Given the description of an element on the screen output the (x, y) to click on. 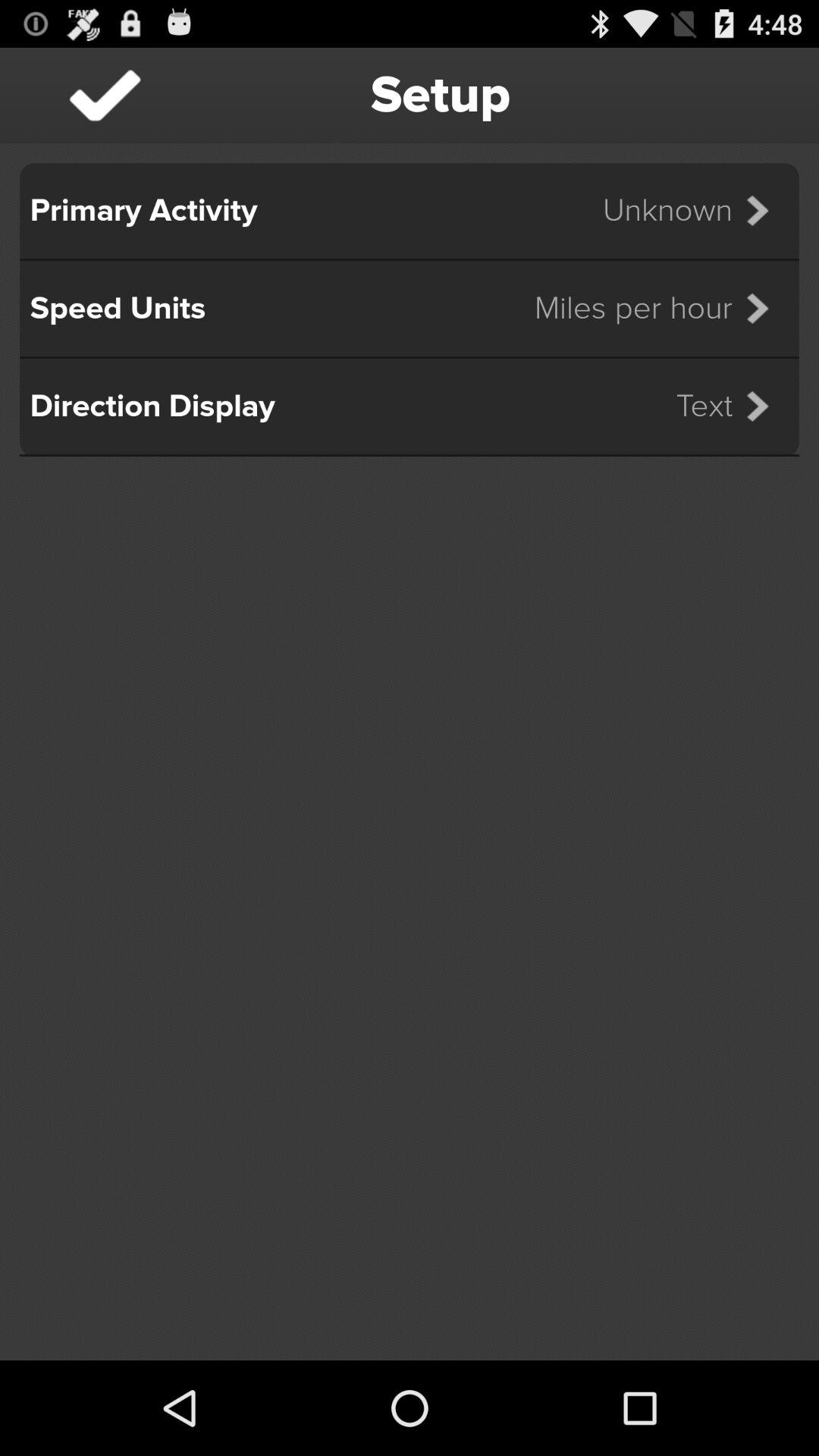
click icon to the left of setup (104, 95)
